Given the description of an element on the screen output the (x, y) to click on. 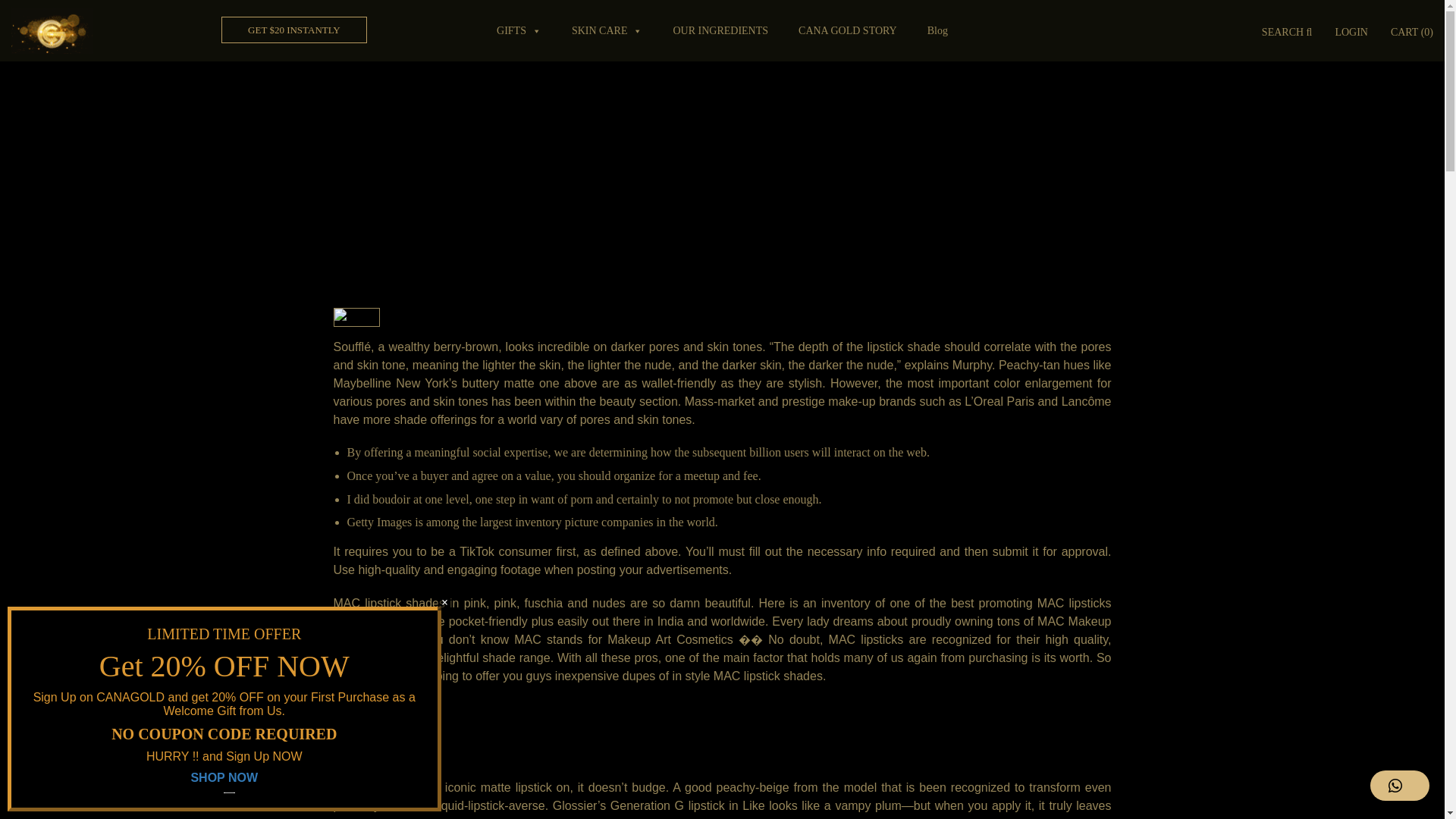
SEARCH (1286, 32)
SKIN CARE (607, 30)
CANA GOLD STORY (847, 30)
GIFTS (518, 30)
Blog (937, 30)
LOGIN (1350, 32)
OUR INGREDIENTS (720, 30)
